Given the description of an element on the screen output the (x, y) to click on. 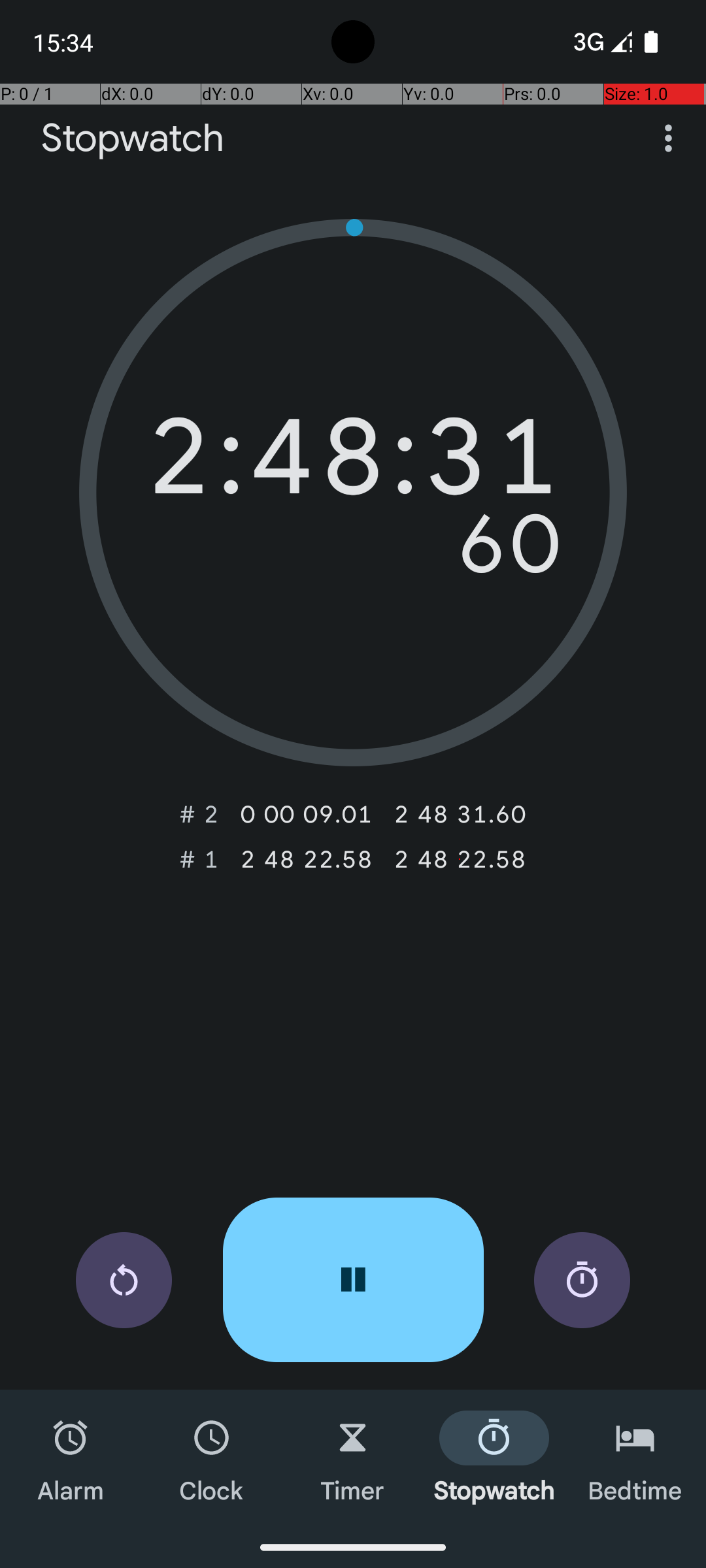
2:48:31 Element type: android.widget.TextView (352, 462)
# 2 Element type: android.widget.TextView (198, 814)
0‎ 00‎ 08.94 Element type: android.widget.TextView (305, 814)
2‎ 48‎ 31.52 Element type: android.widget.TextView (459, 814)
# 1 Element type: android.widget.TextView (198, 859)
2‎ 48‎ 22.58 Element type: android.widget.TextView (305, 859)
